Given the description of an element on the screen output the (x, y) to click on. 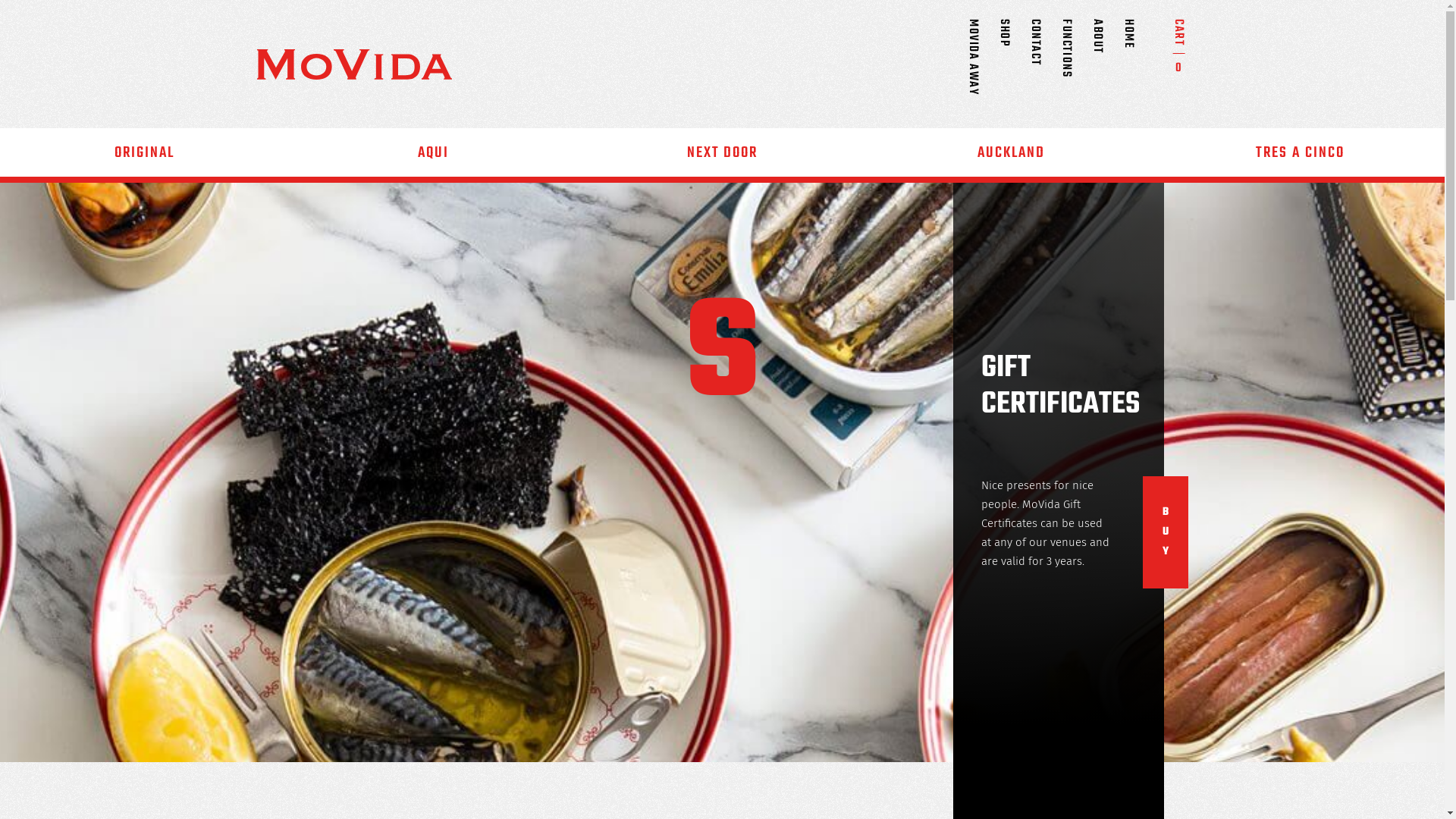
ABOUT Element type: text (1125, 28)
CONTACT Element type: text (1063, 28)
HOME Element type: text (1155, 28)
FUNCTIONS Element type: text (1093, 28)
MOVIDA AWAY Element type: text (1001, 28)
AQUI Element type: text (432, 152)
SHOP Element type: text (1031, 28)
ORIGINAL Element type: text (144, 152)
TRES A CINCO Element type: text (1299, 152)
B
U
Y Element type: text (1164, 532)
AUCKLAND Element type: text (1010, 152)
NEXT DOOR Element type: text (721, 152)
